Given the description of an element on the screen output the (x, y) to click on. 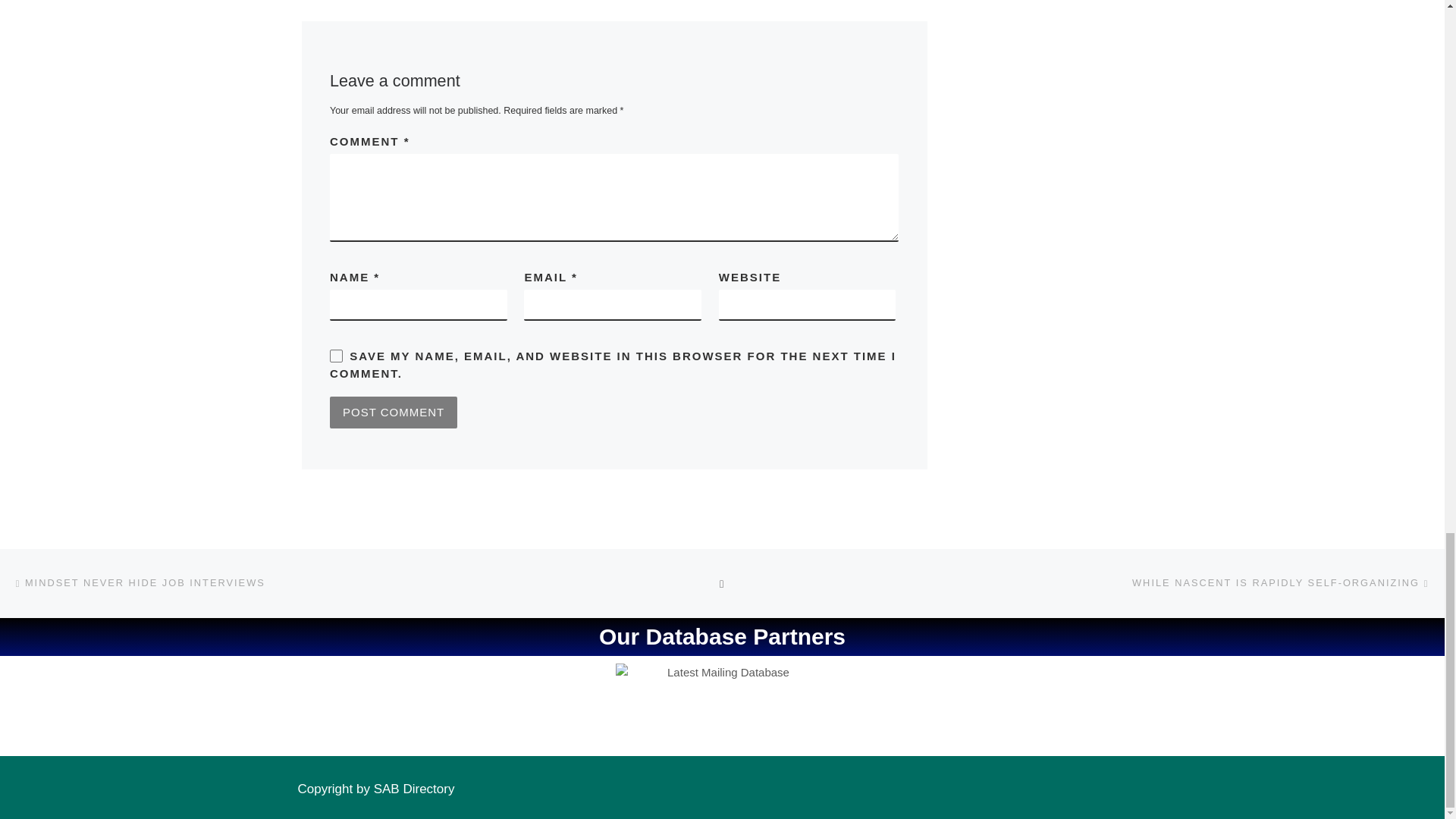
yes (336, 355)
Post Comment (393, 412)
